Given the description of an element on the screen output the (x, y) to click on. 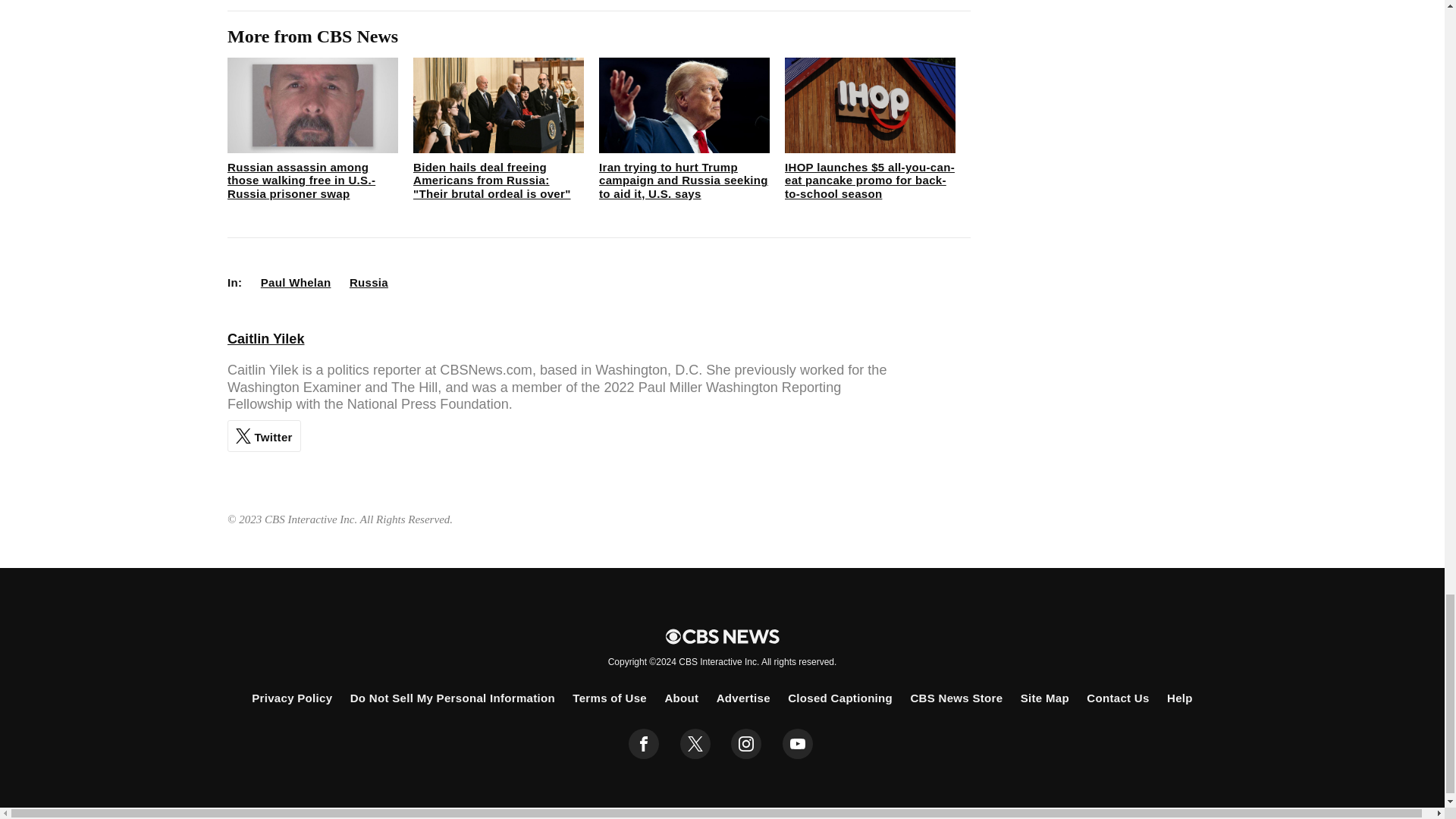
youtube (797, 743)
instagram (745, 743)
twitter (694, 743)
facebook (643, 743)
